Given the description of an element on the screen output the (x, y) to click on. 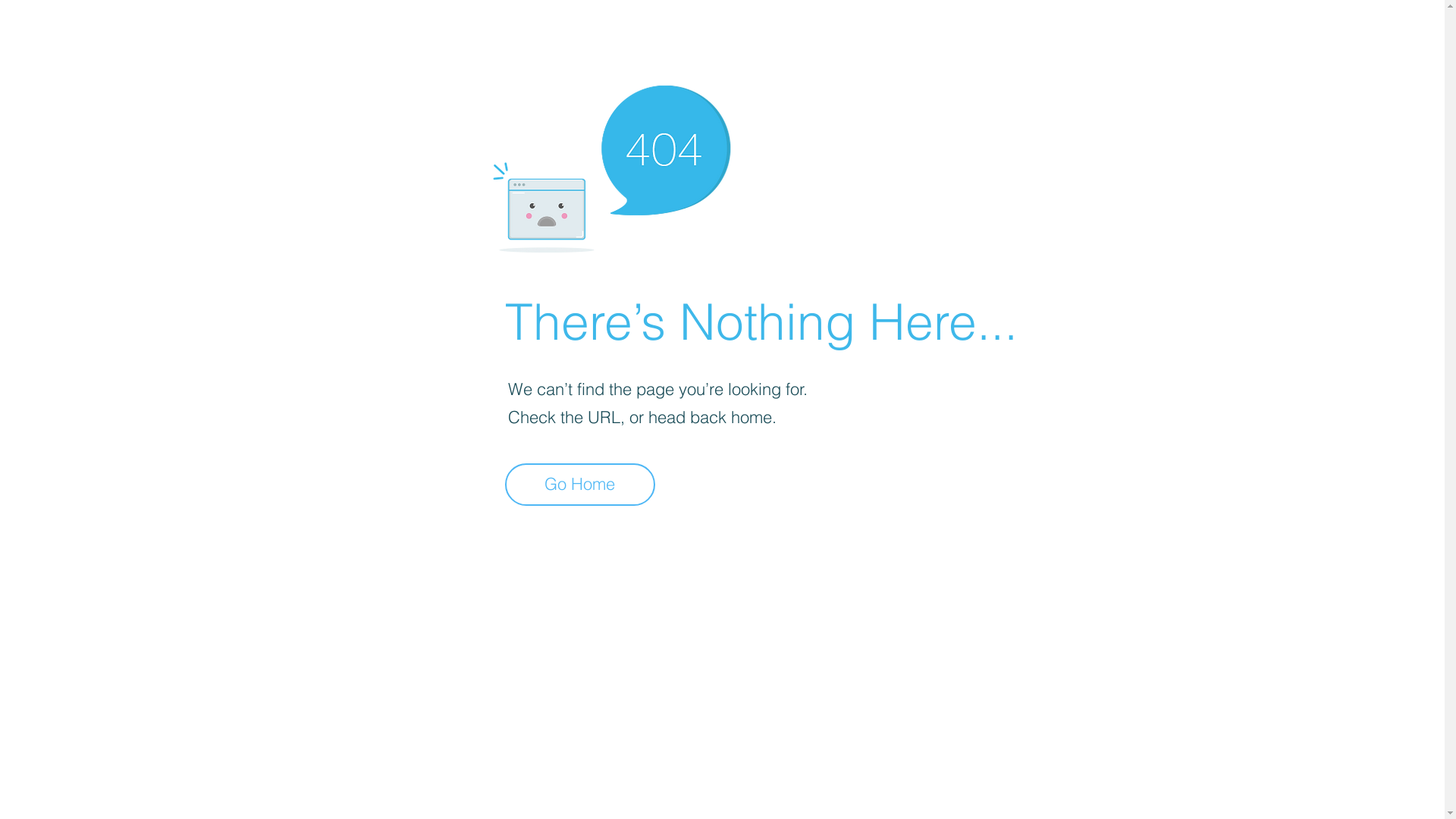
404-icon_2.png Element type: hover (610, 164)
Go Home Element type: text (580, 484)
